Given the description of an element on the screen output the (x, y) to click on. 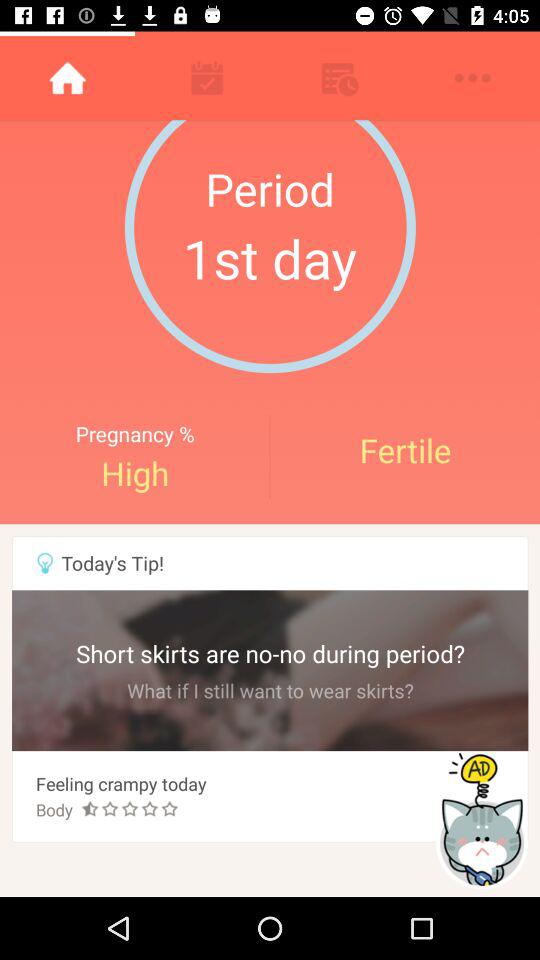
advertisements (484, 820)
